Given the description of an element on the screen output the (x, y) to click on. 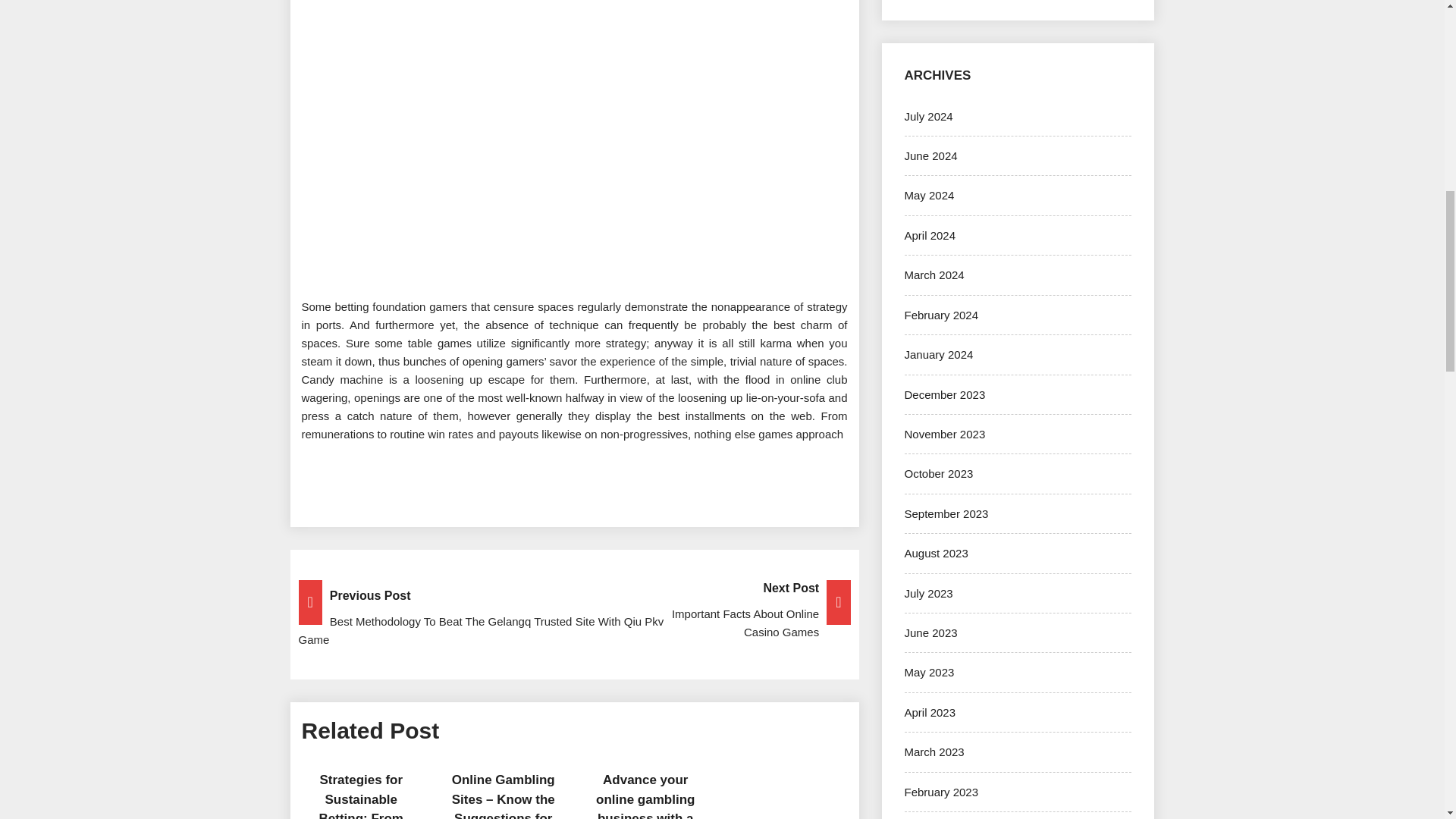
April 2024 (929, 235)
March 2024 (933, 274)
November 2023 (944, 433)
December 2023 (944, 394)
May 2024 (928, 195)
February 2024 (941, 314)
July 2024 (928, 115)
June 2024 (930, 155)
